Given the description of an element on the screen output the (x, y) to click on. 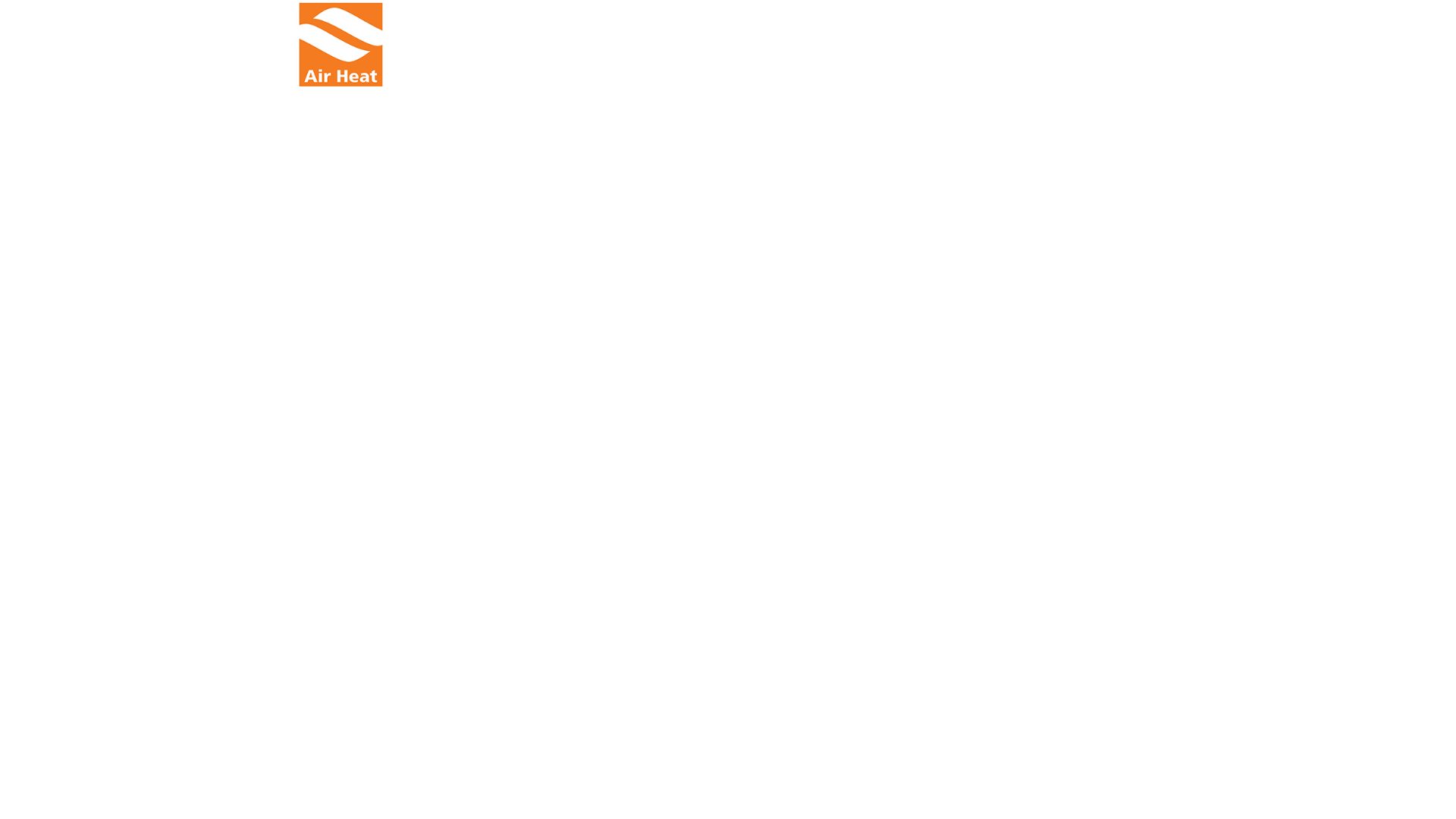
Skip to content Element type: text (42, 12)
